Given the description of an element on the screen output the (x, y) to click on. 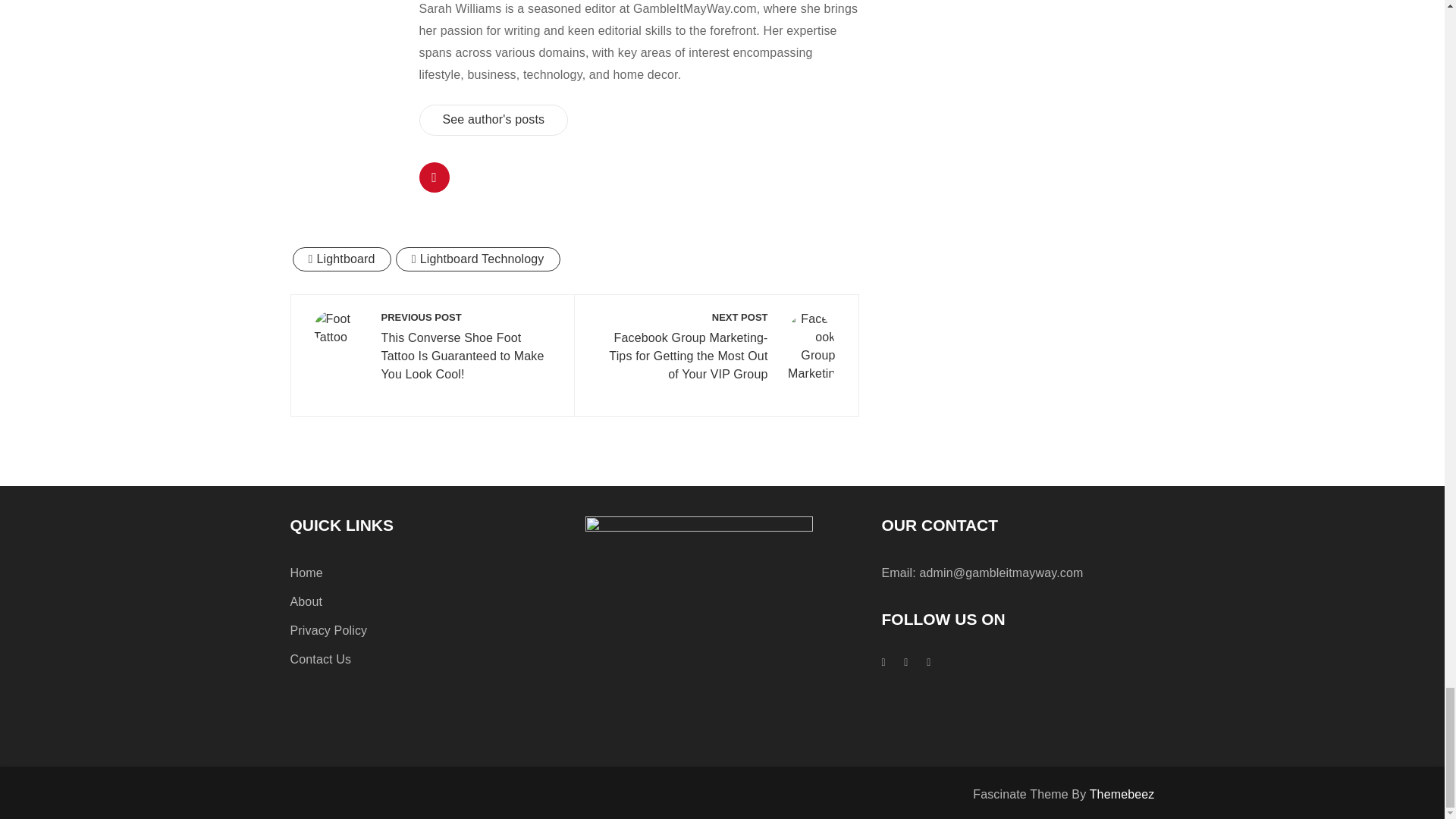
Lightboard (341, 259)
Lightboard Technology (478, 259)
See author's posts (493, 119)
